Given the description of an element on the screen output the (x, y) to click on. 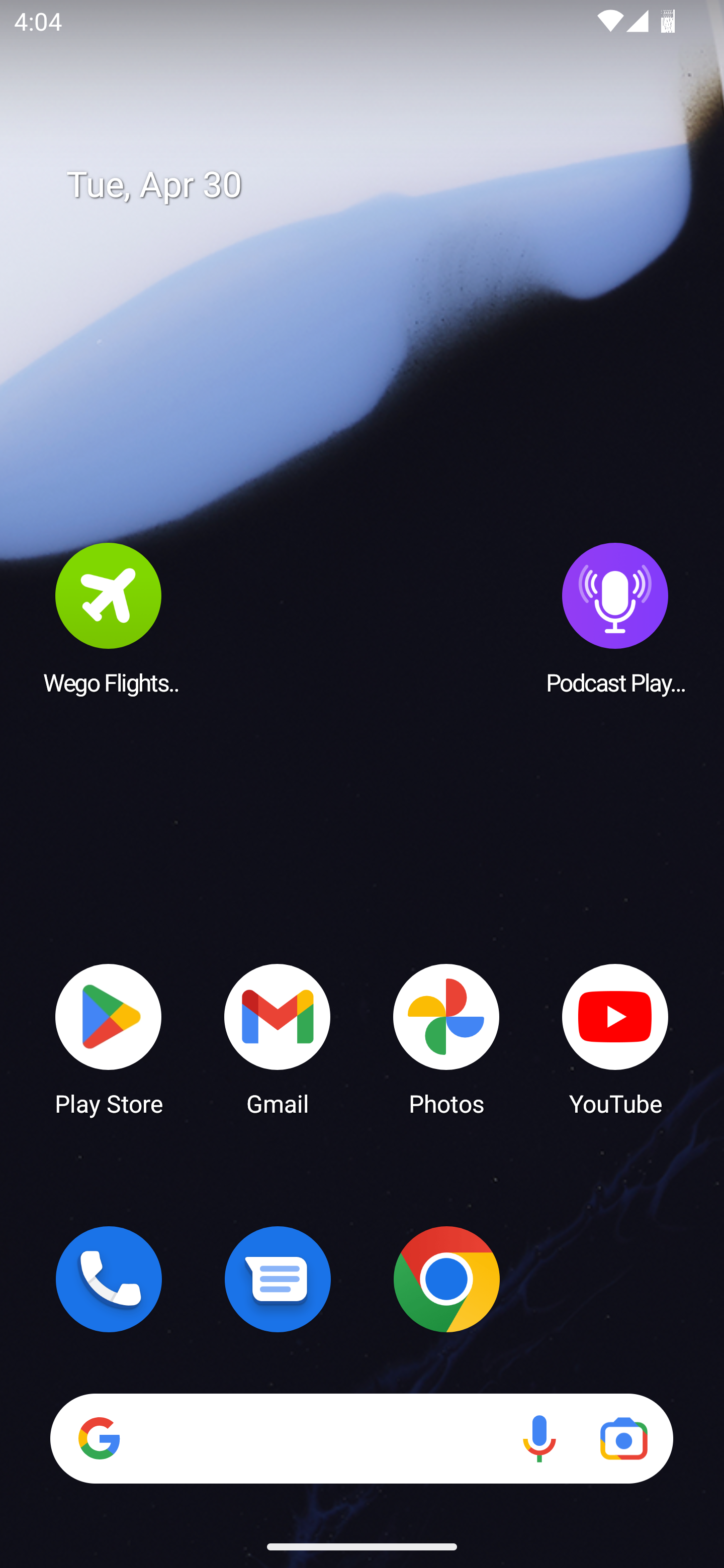
Tue, Apr 30 (375, 184)
Wego Flights & Hotels (108, 617)
Podcast Player (615, 617)
Play Store (108, 1038)
Gmail (277, 1038)
Photos (445, 1038)
YouTube (615, 1038)
Phone (108, 1279)
Messages (277, 1279)
Chrome (446, 1279)
Voice search (539, 1438)
Google Lens (623, 1438)
